Given the description of an element on the screen output the (x, y) to click on. 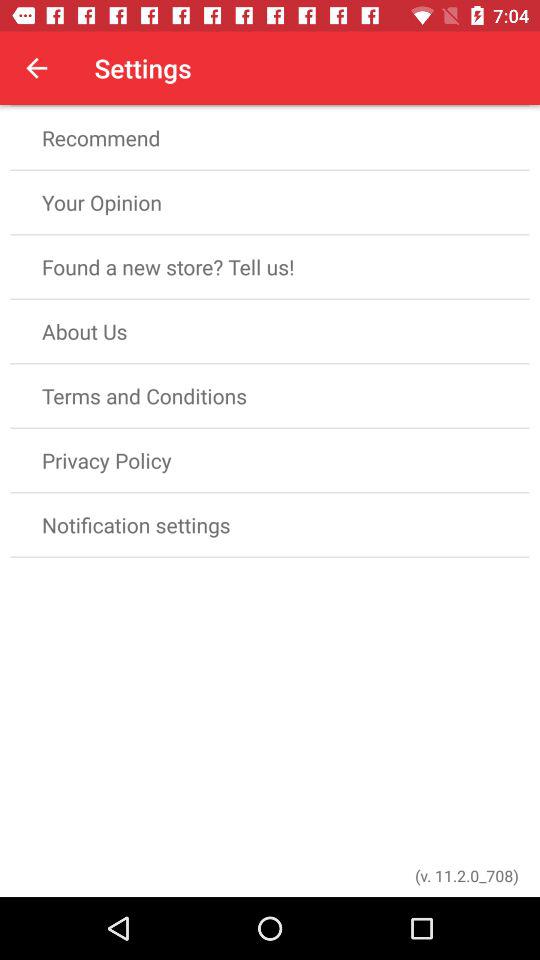
click item below the found a new item (269, 331)
